Given the description of an element on the screen output the (x, y) to click on. 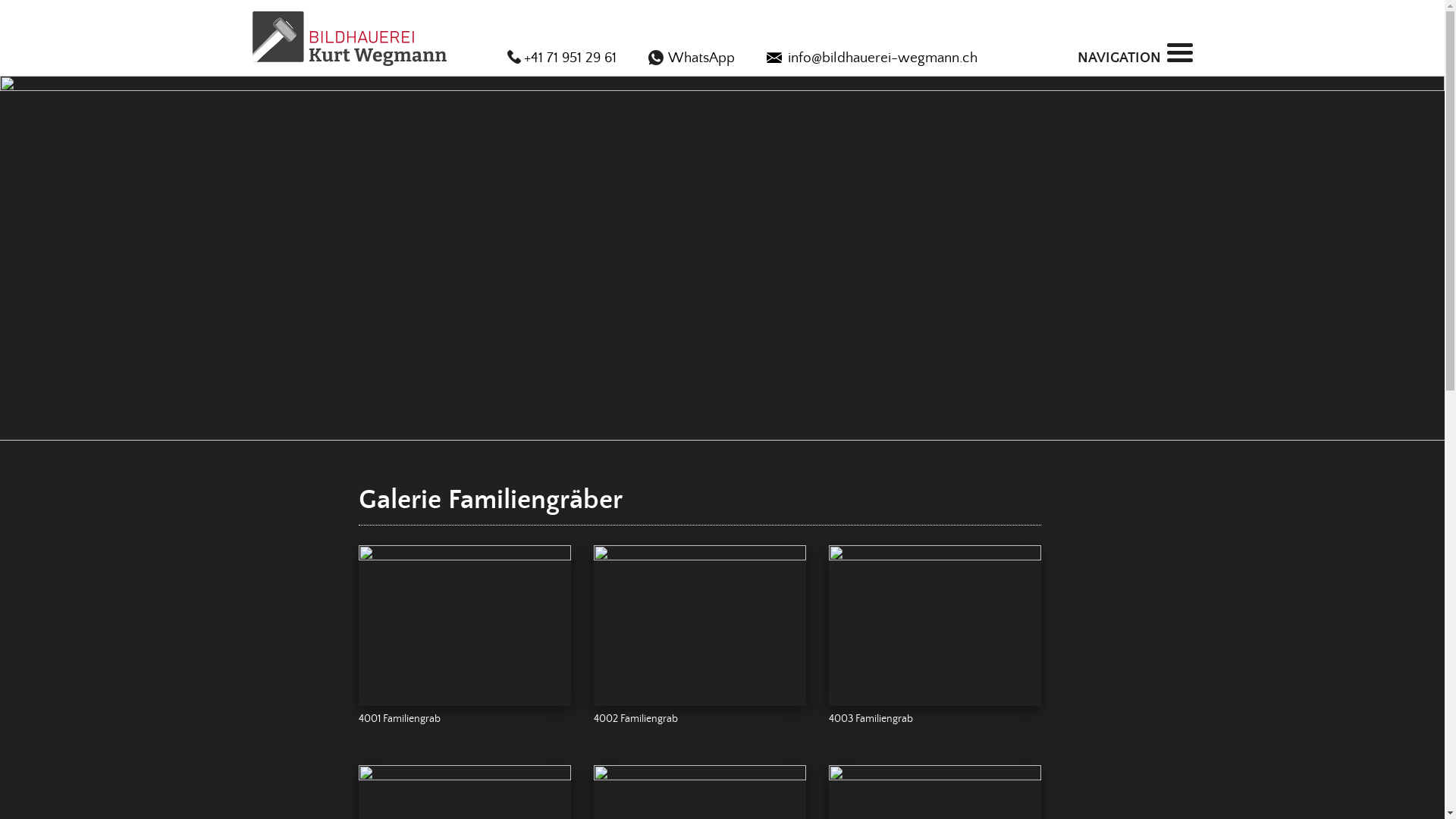
+41 71 951 29 61 Element type: text (560, 58)
info@bildhauerei-wegmann.ch Element type: text (870, 58)
Bildhauerei Wegmann - Startseite Element type: hover (348, 38)
WhatsApp Element type: text (690, 58)
